Given the description of an element on the screen output the (x, y) to click on. 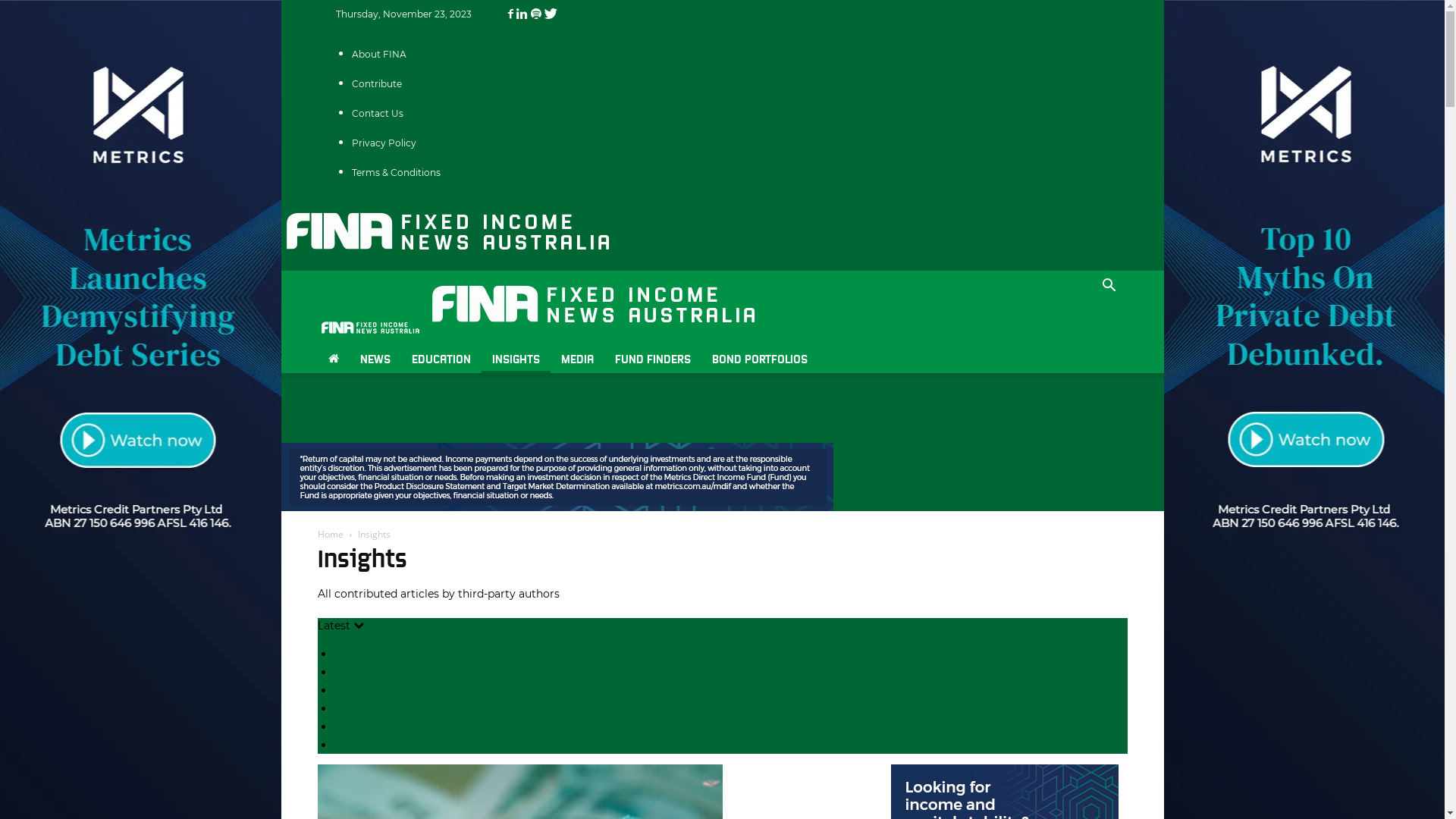
Latest Element type: text (349, 653)
BOND PORTFOLIOS Element type: text (758, 357)
By review score Element type: text (375, 726)
MEDIA Element type: text (577, 357)
Spotify Element type: hover (537, 13)
3rd party ad content Element type: hover (556, 476)
About FINA Element type: text (378, 53)
Fixed Income News Australia Element type: hover (369, 327)
Featured posts Element type: text (373, 671)
Privacy Policy Element type: text (383, 142)
Fixed Income News Australia Element type: text (525, 262)
Fixed Income News Australia Element type: hover (592, 304)
INSIGHTS Element type: text (514, 357)
Contact Us Element type: text (377, 113)
Most popular Element type: text (368, 689)
Home Element type: text (329, 533)
Contribute Element type: text (376, 83)
Random Element type: text (356, 744)
Twitter Element type: hover (550, 13)
Fixed Income News Australia Element type: hover (447, 231)
Search Element type: text (1085, 343)
7 days popular Element type: text (372, 708)
Facebook Element type: hover (512, 13)
FUND FINDERS Element type: text (651, 357)
EDUCATION Element type: text (440, 357)
Terms & Conditions Element type: text (395, 172)
Linkedin Element type: hover (522, 13)
NEWS Element type: text (374, 357)
